Given the description of an element on the screen output the (x, y) to click on. 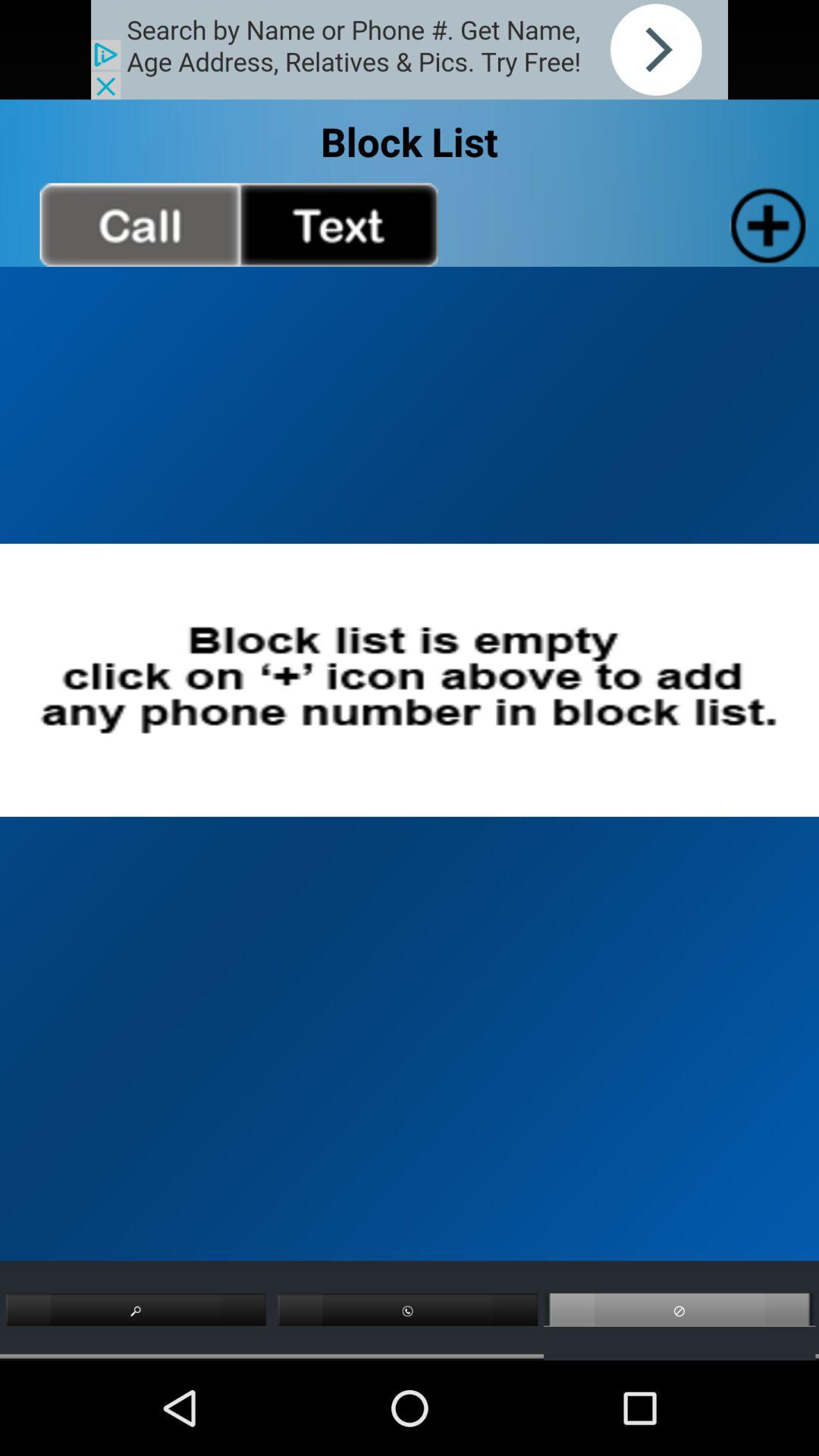
add item to list (765, 224)
